Given the description of an element on the screen output the (x, y) to click on. 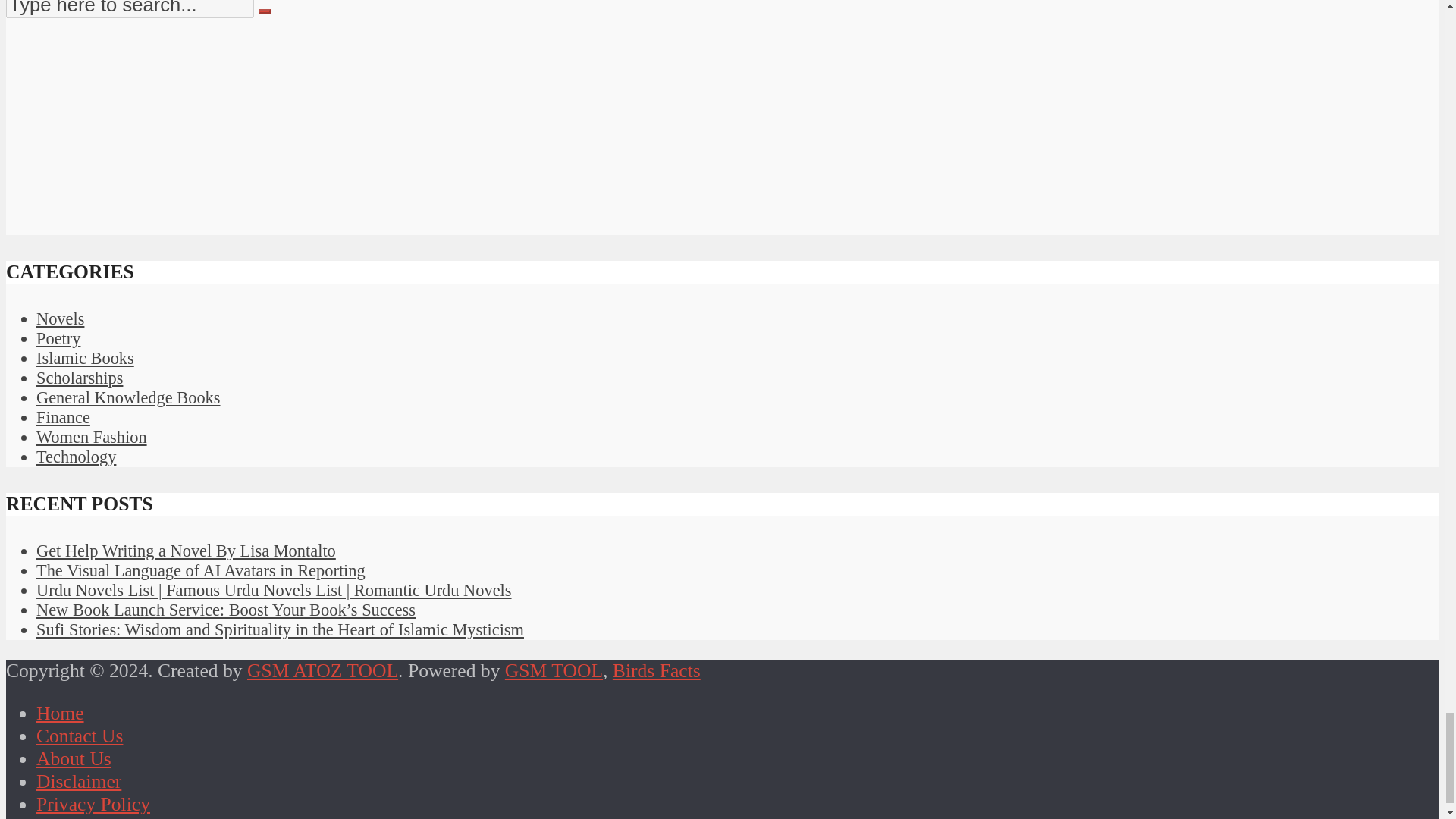
Type here to search... (129, 9)
Type here to search... (129, 9)
